Given the description of an element on the screen output the (x, y) to click on. 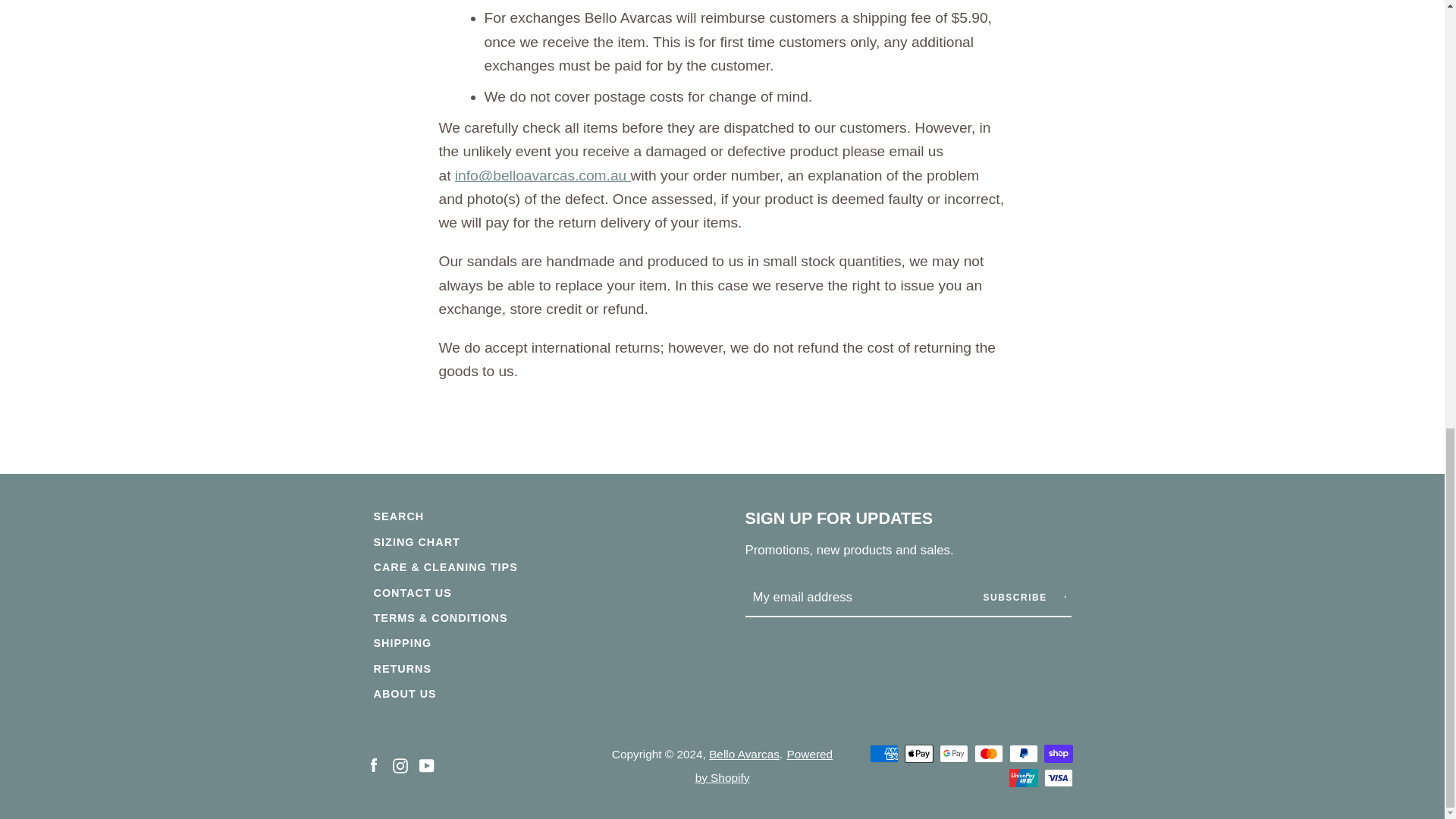
American Express (883, 753)
PayPal (1022, 753)
RETURNS (401, 668)
ABOUT US (403, 693)
Bello Avarcas on Facebook (372, 764)
CONTACT US (411, 592)
Bello Avarcas on YouTube (426, 764)
SEARCH (397, 516)
Visa (1057, 778)
Google Pay (953, 753)
